Given the description of an element on the screen output the (x, y) to click on. 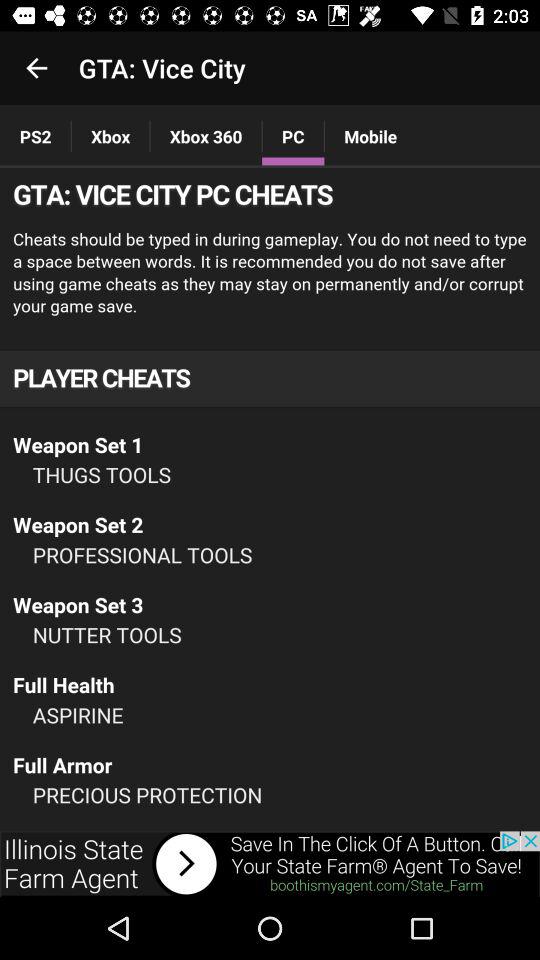
advertisement (270, 864)
